Given the description of an element on the screen output the (x, y) to click on. 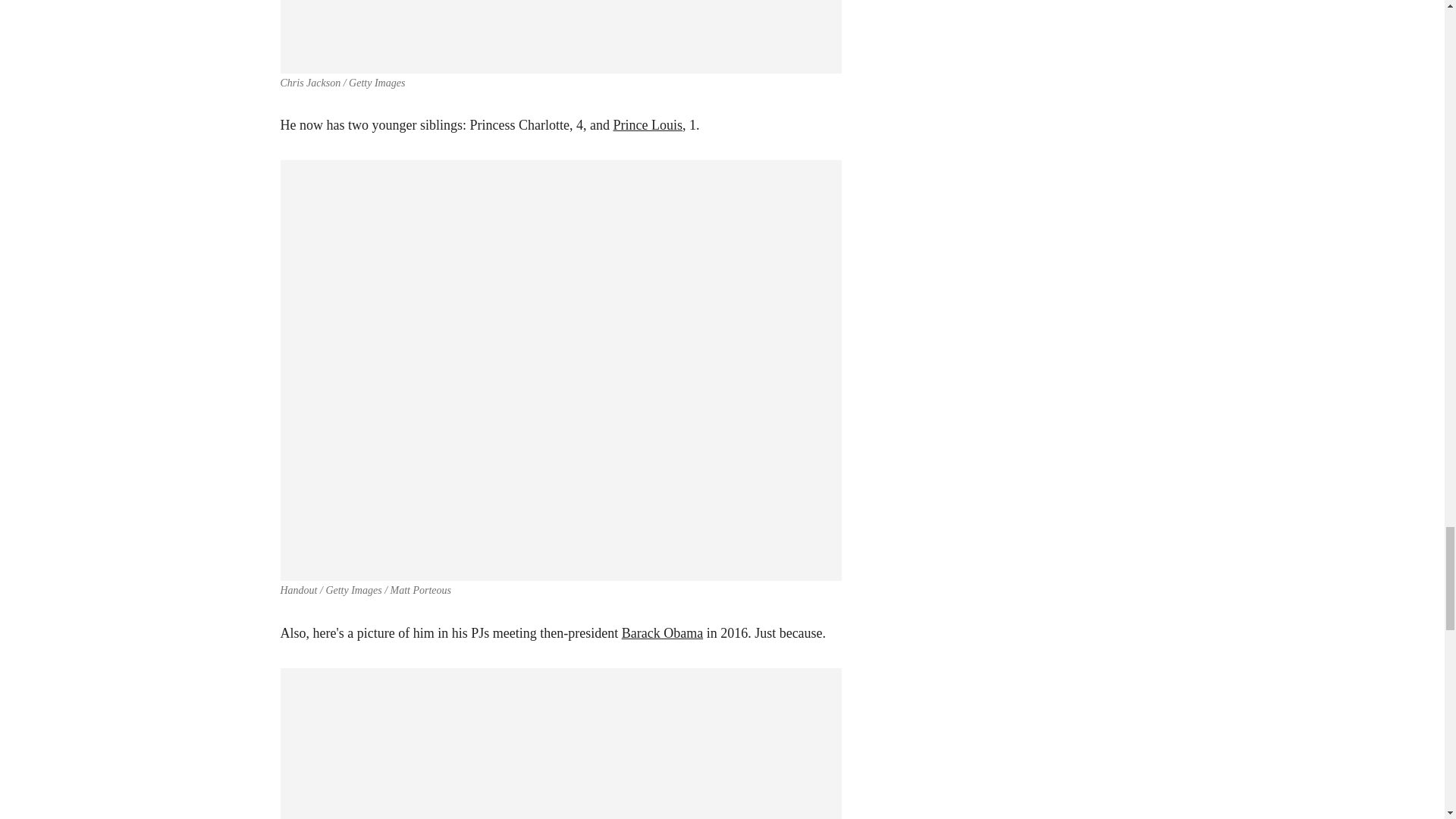
Barack Obama (662, 632)
Prince Louis (647, 124)
